Given the description of an element on the screen output the (x, y) to click on. 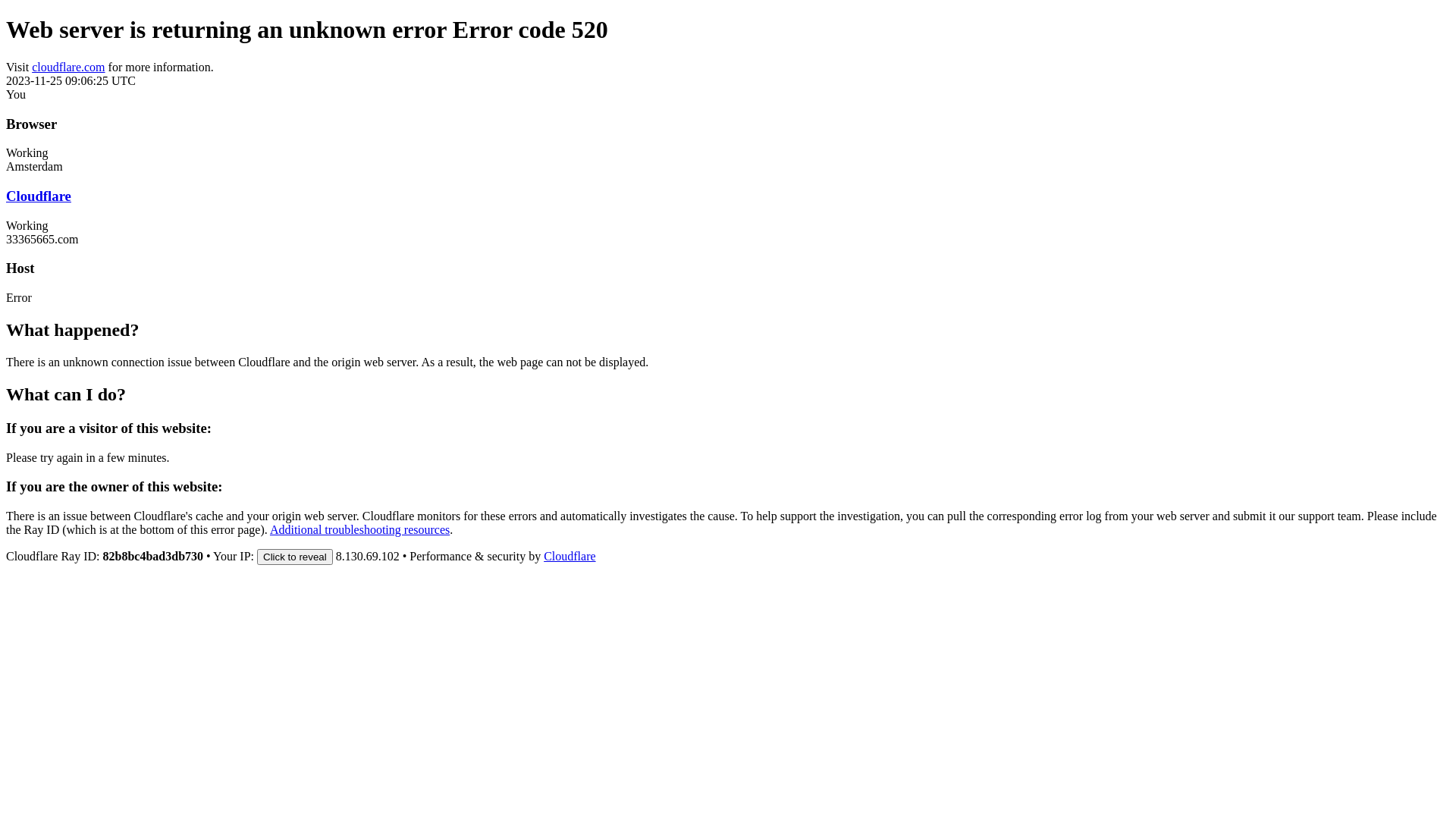
Click to reveal Element type: text (294, 556)
cloudflare.com Element type: text (67, 66)
Additional troubleshooting resources Element type: text (359, 529)
Cloudflare Element type: text (38, 195)
Cloudflare Element type: text (569, 555)
